Given the description of an element on the screen output the (x, y) to click on. 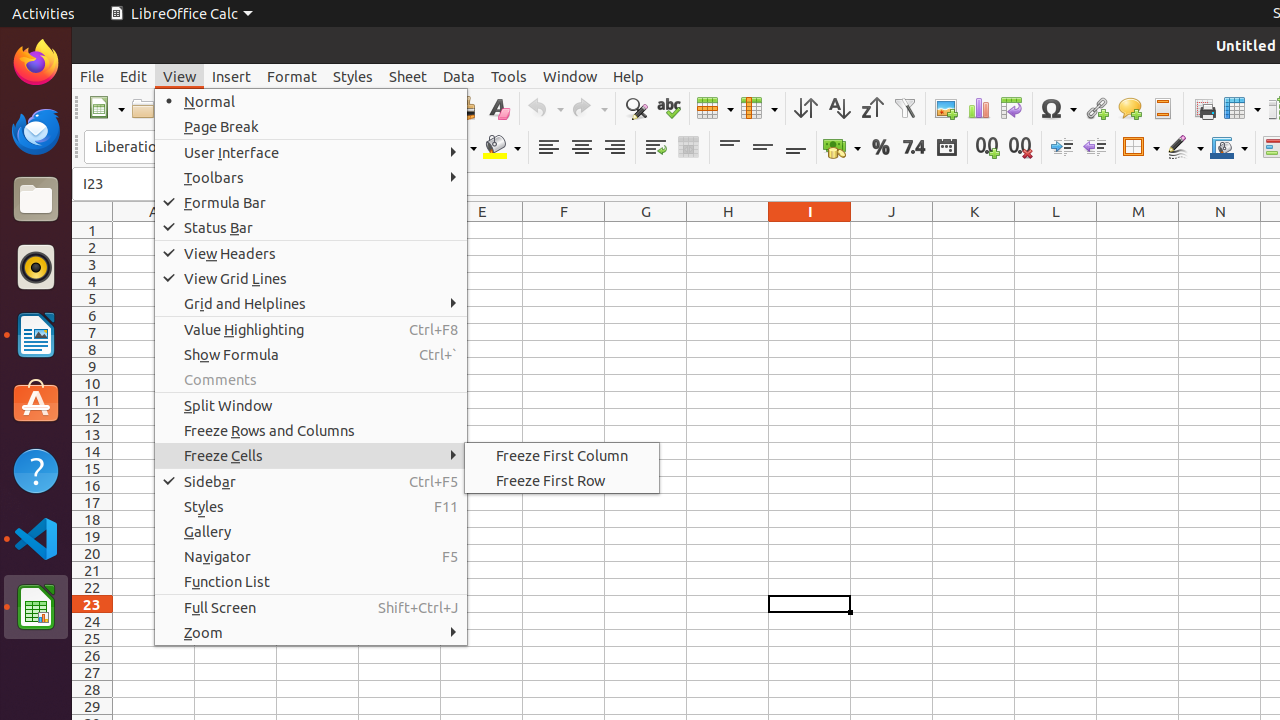
Date Element type: push-button (946, 147)
Sheet Element type: menu (408, 76)
Align Center Element type: push-button (581, 147)
Apply Style Element type: text (73, 129)
